Given the description of an element on the screen output the (x, y) to click on. 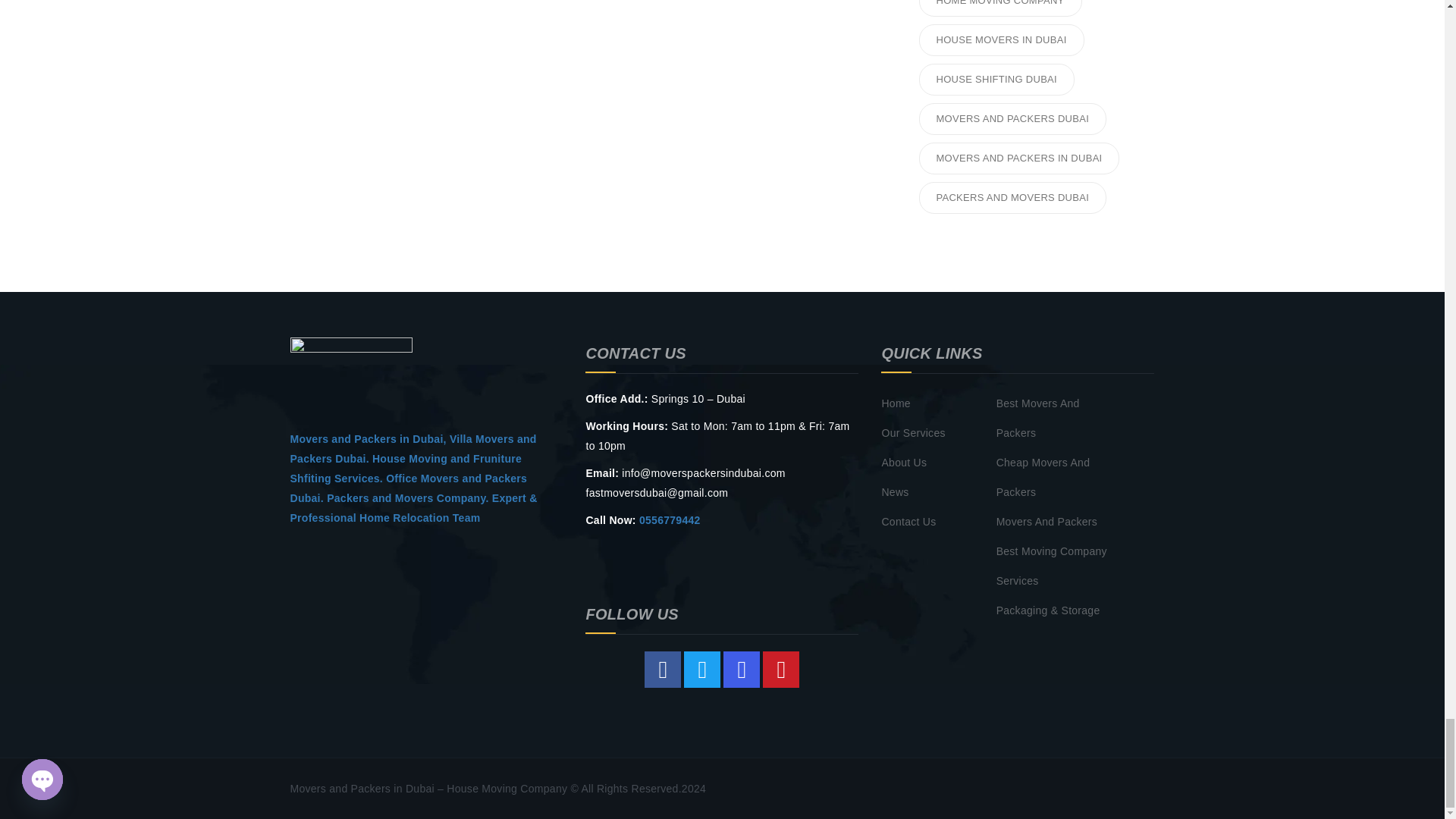
Instagram (741, 669)
Twitter (702, 669)
Pinterest (780, 669)
Facebook (663, 669)
